Given the description of an element on the screen output the (x, y) to click on. 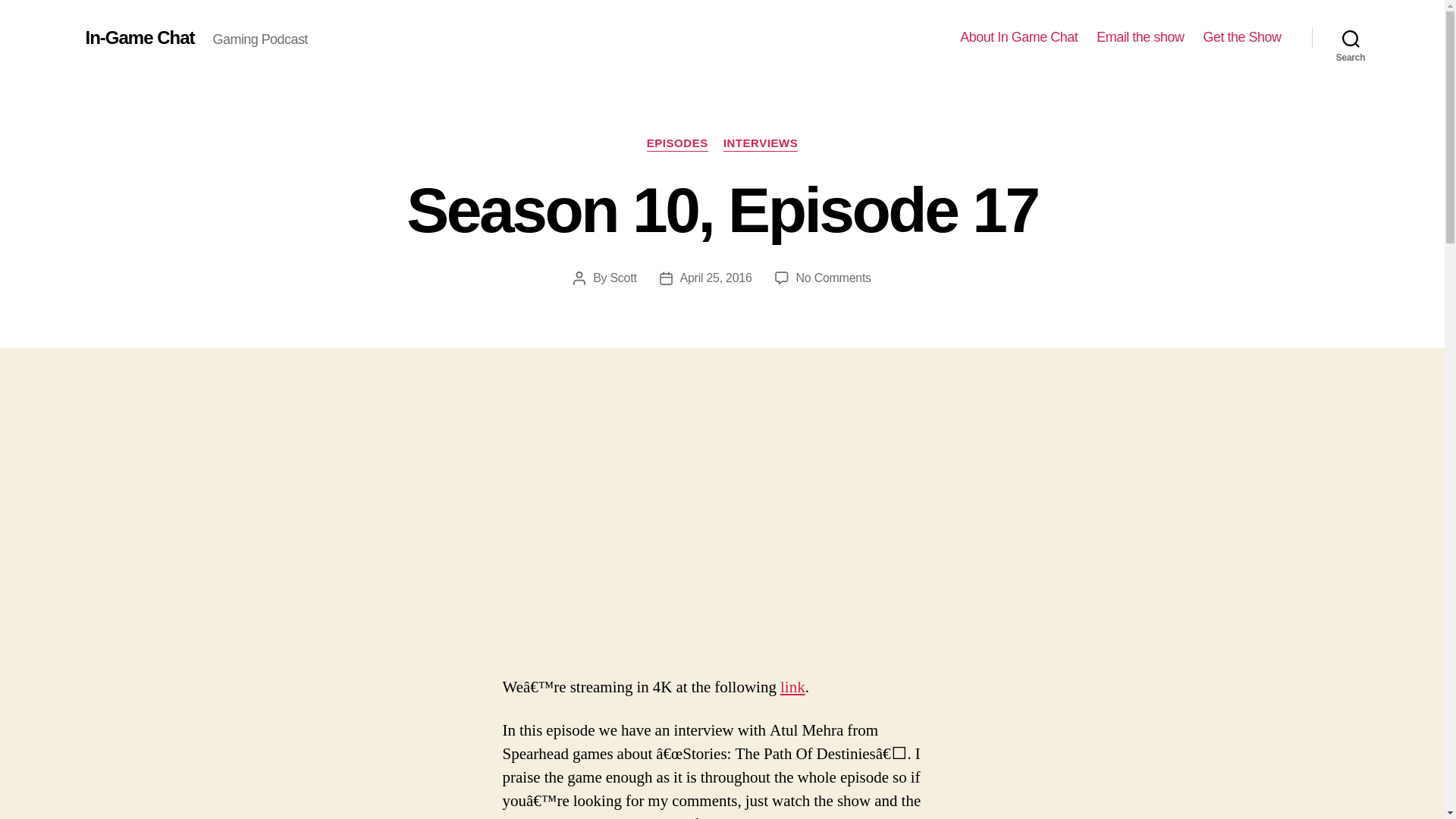
link (792, 687)
EPISODES (676, 143)
Search (1350, 37)
About In Game Chat (1018, 37)
Get the Show (1241, 37)
Email the show (1139, 37)
In-Game Chat (138, 37)
INTERVIEWS (760, 143)
In-Game Chat: Season 10, Episode 17 (722, 532)
April 25, 2016 (715, 277)
